Given the description of an element on the screen output the (x, y) to click on. 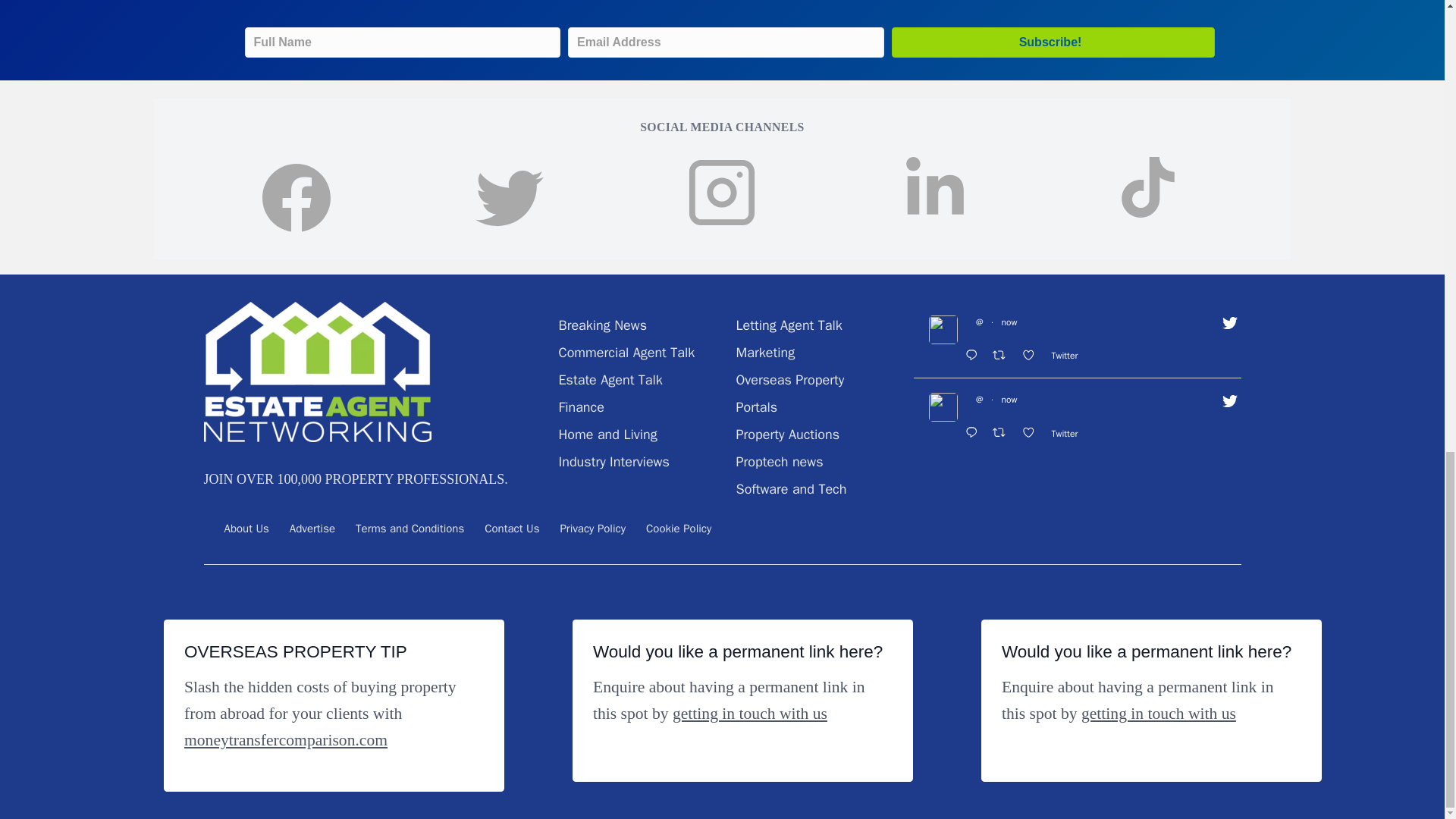
Software and Tech (790, 488)
Retweet on Twitter (1002, 356)
Portals (756, 406)
Overseas Property (789, 379)
Marketing (764, 352)
Reply on Twitter (974, 356)
Commercial Agent Talk (625, 352)
Letting Agent Talk (788, 324)
Breaking News (601, 324)
Subscribe! (1053, 42)
